Given the description of an element on the screen output the (x, y) to click on. 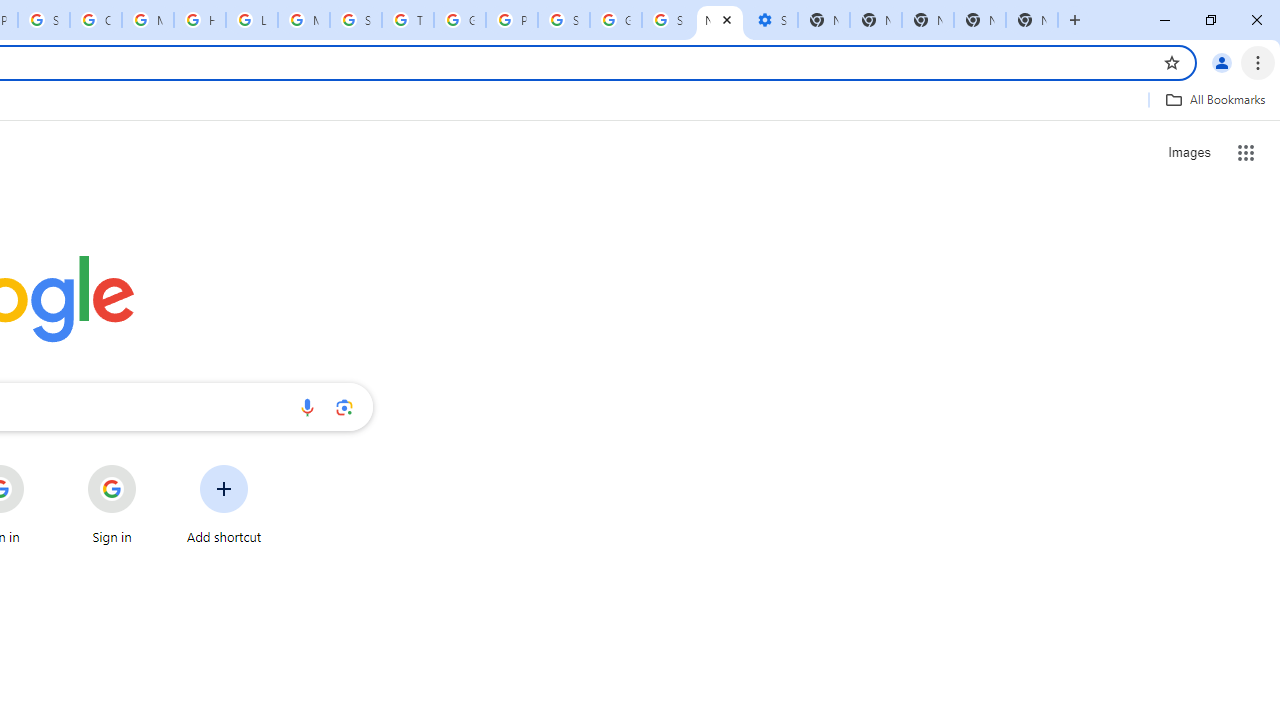
Sign in - Google Accounts (667, 20)
Settings - Performance (771, 20)
Trusted Information and Content - Google Safety Center (407, 20)
